Given the description of an element on the screen output the (x, y) to click on. 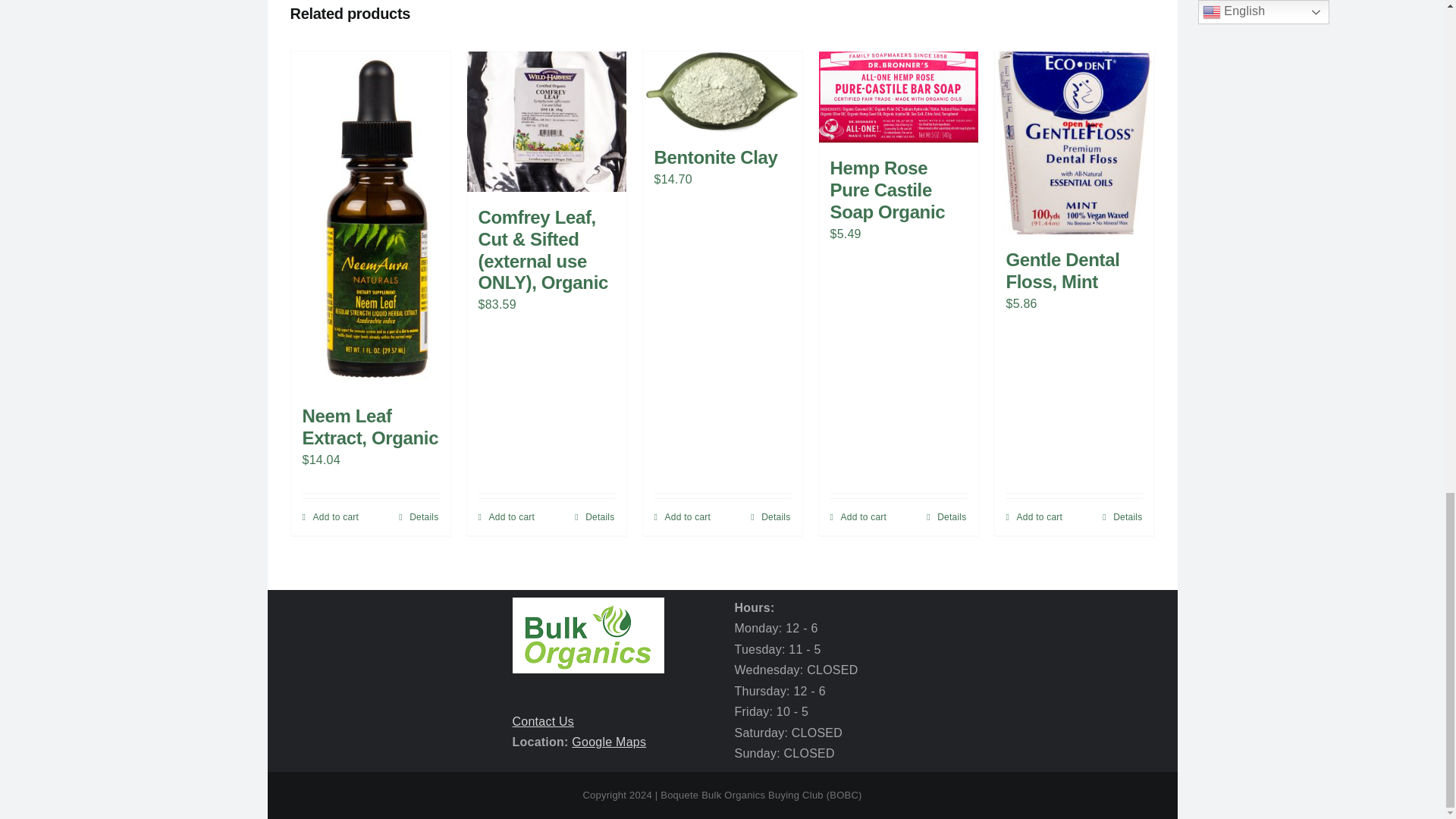
Add to cart (329, 517)
Neem Leaf Extract, Organic (369, 426)
Details (946, 517)
Add to cart (857, 517)
Add to cart (505, 517)
Add to cart (681, 517)
Hemp Rose Pure Castile Soap Organic (886, 189)
Details (418, 517)
Bentonite Clay (715, 157)
Details (594, 517)
